Given the description of an element on the screen output the (x, y) to click on. 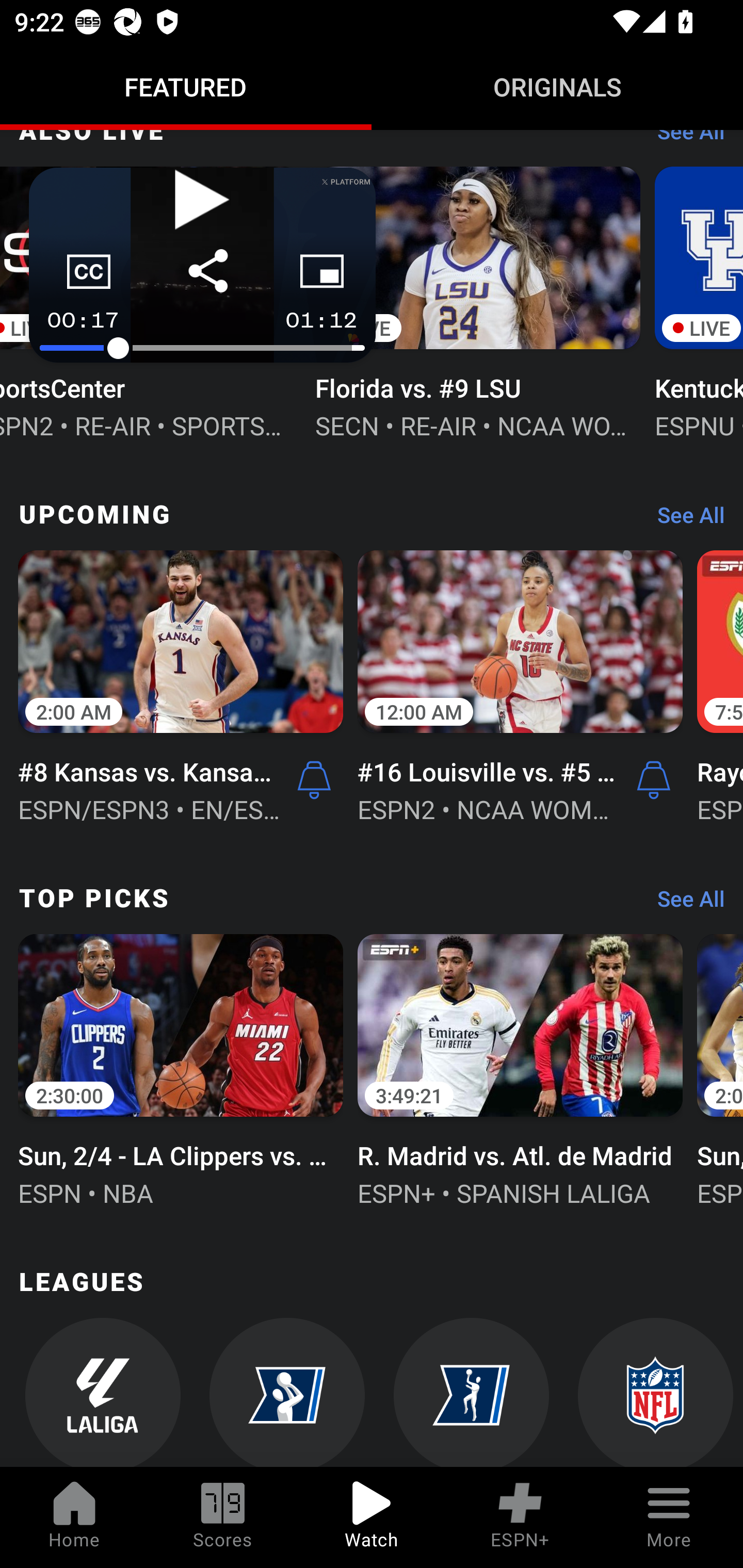
Originals ORIGINALS (557, 86)
LIVE SportsCenter ESPN2 • RE-AIR • SPORTSCENTER (150, 300)
See All (683, 519)
Alerts (314, 780)
Alerts (653, 780)
See All (683, 903)
Home (74, 1517)
Scores (222, 1517)
ESPN+ (519, 1517)
More (668, 1517)
